Given the description of an element on the screen output the (x, y) to click on. 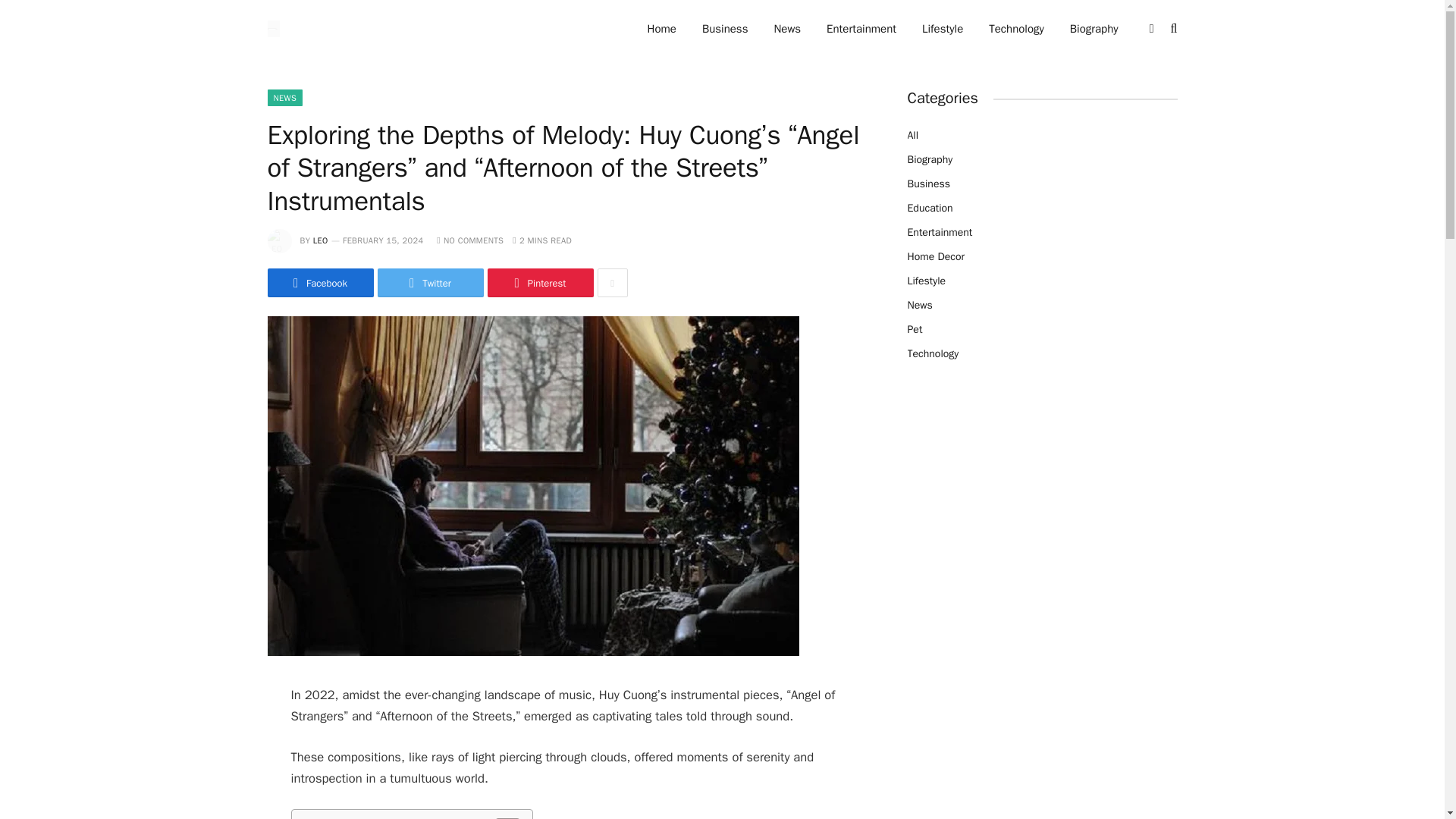
Entertainment (860, 28)
Facebook (319, 282)
Share on Pinterest (539, 282)
LEO (321, 240)
Biography (1094, 28)
Share on Facebook (319, 282)
Twitter (430, 282)
Business (724, 28)
Pinterest (539, 282)
Posts by Leo (321, 240)
NO COMMENTS (469, 240)
Switch to Dark Design - easier on eyes. (1151, 28)
NEWS (284, 97)
Technology (1016, 28)
Lifestyle (941, 28)
